Given the description of an element on the screen output the (x, y) to click on. 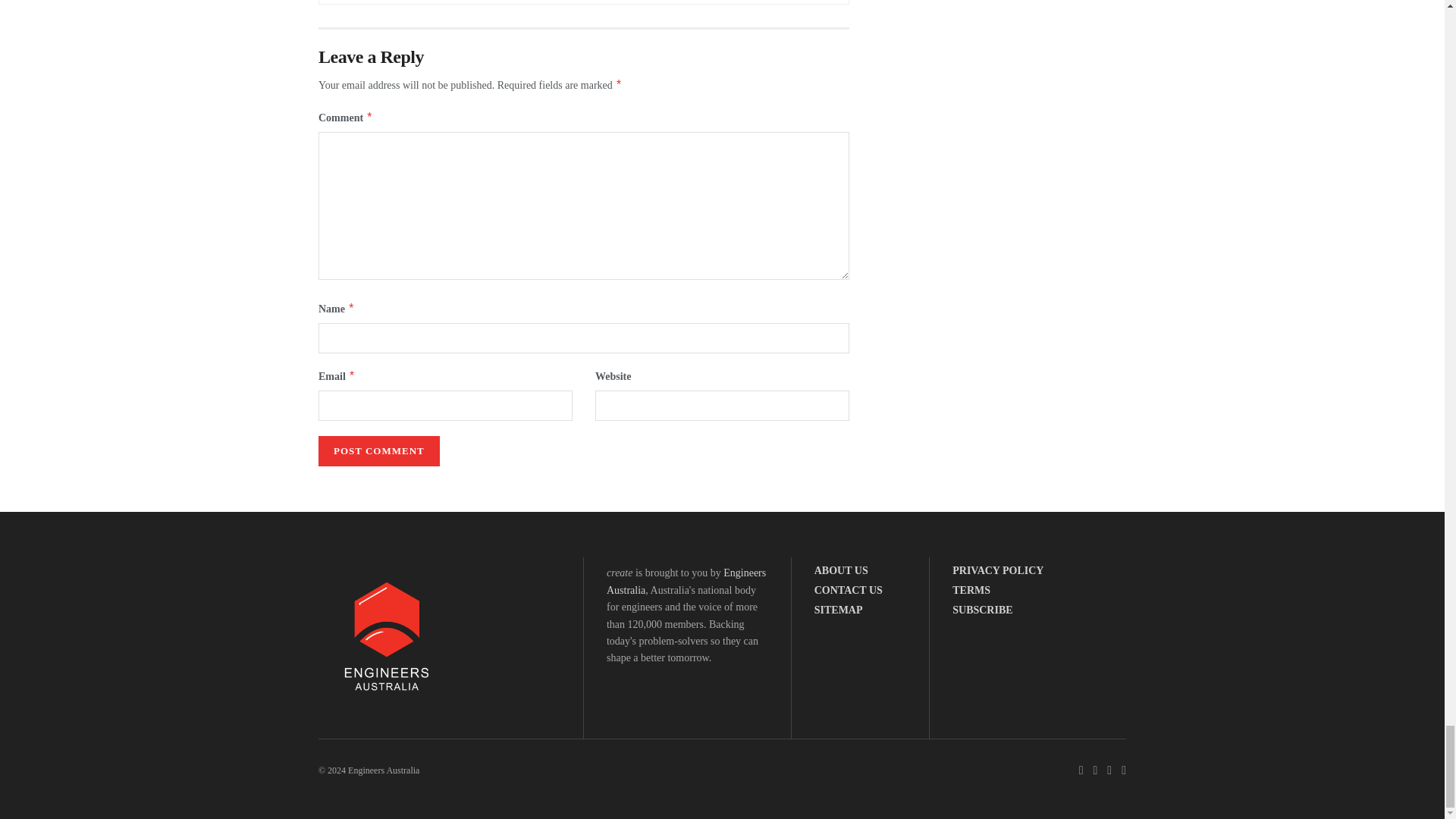
Post Comment (378, 450)
